Given the description of an element on the screen output the (x, y) to click on. 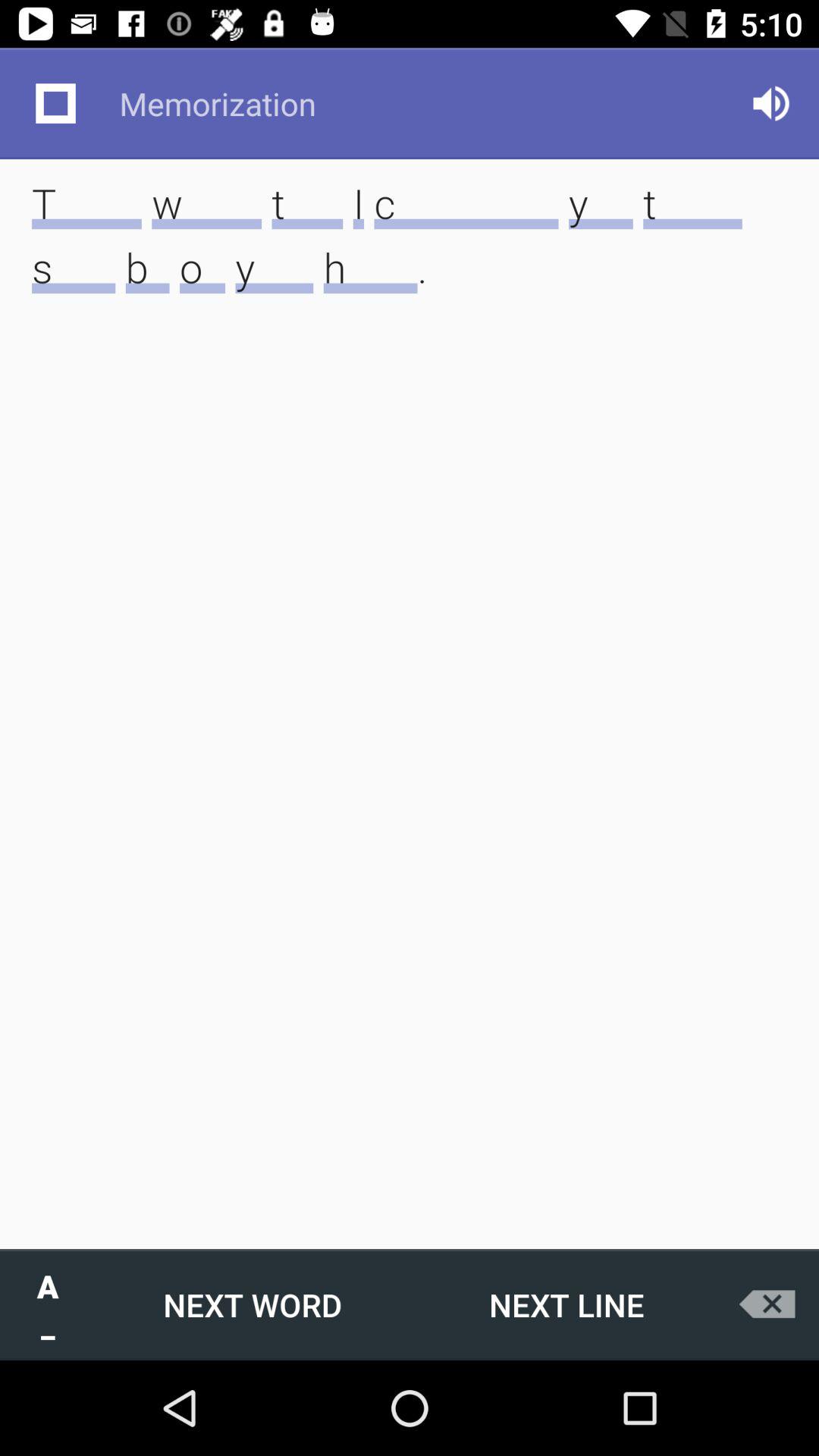
go back (771, 1304)
